Given the description of an element on the screen output the (x, y) to click on. 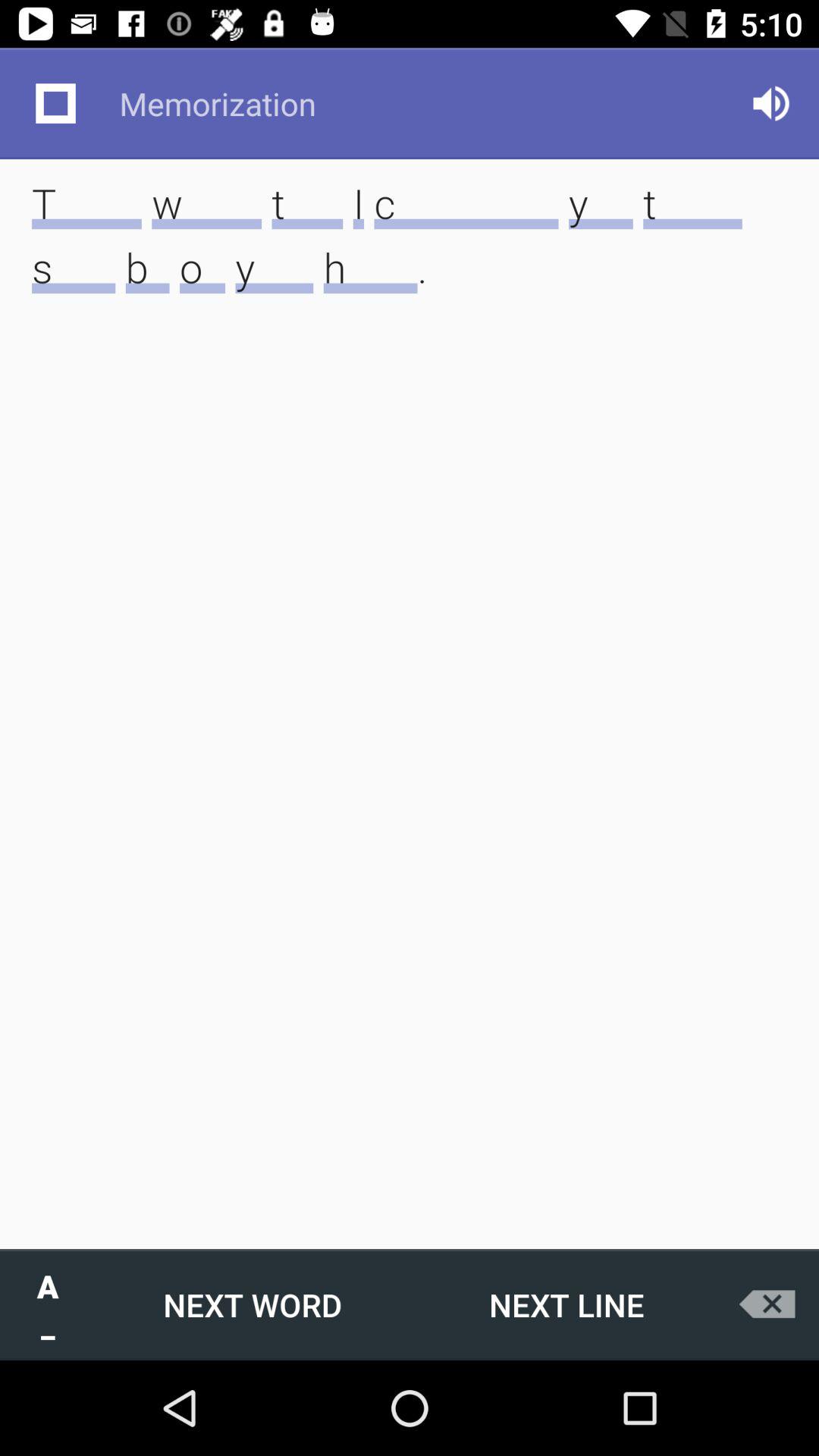
go back (771, 1304)
